Given the description of an element on the screen output the (x, y) to click on. 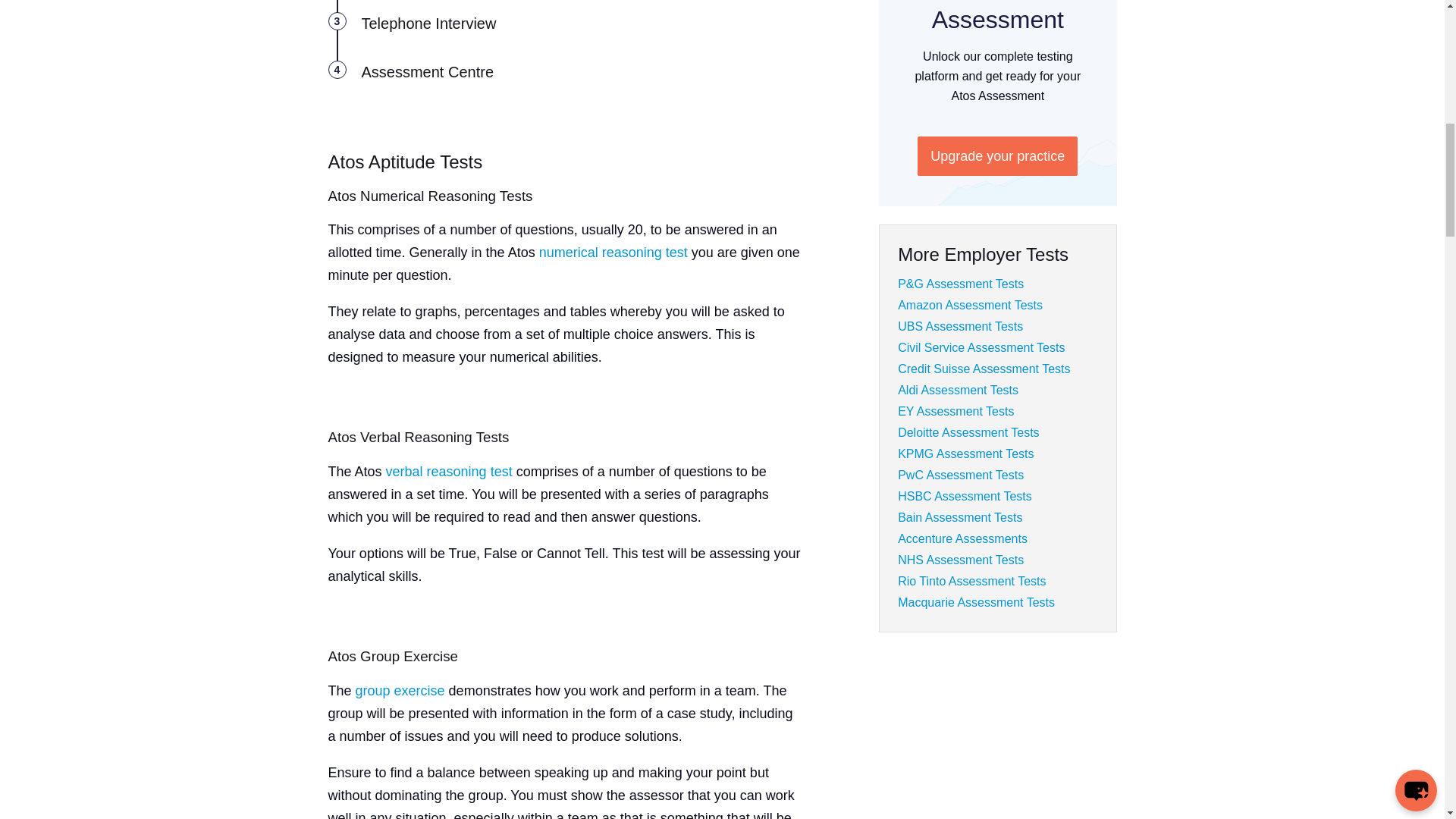
numerical reasoning test (612, 252)
